Given the description of an element on the screen output the (x, y) to click on. 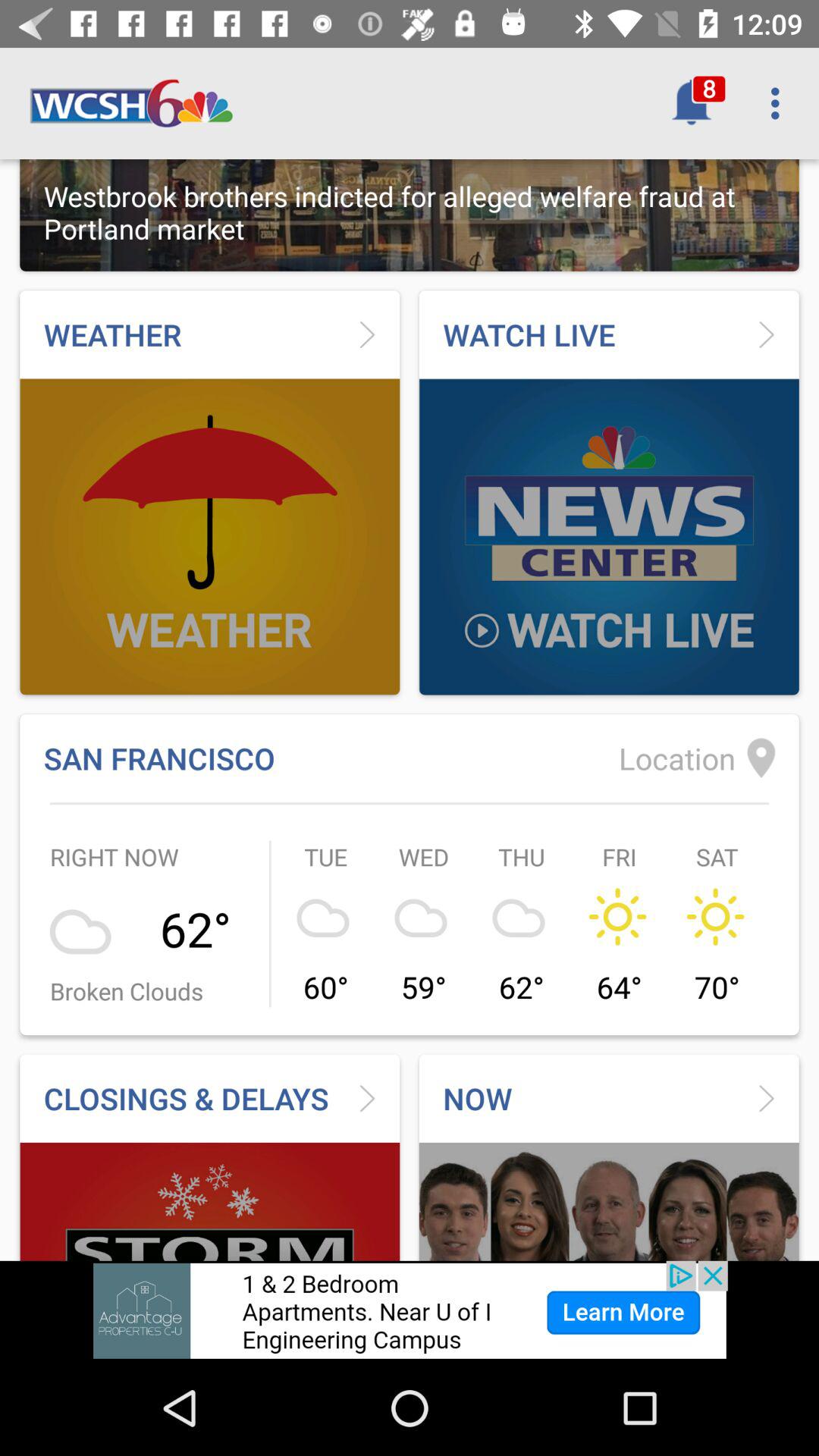
advertisement link (409, 1310)
